Given the description of an element on the screen output the (x, y) to click on. 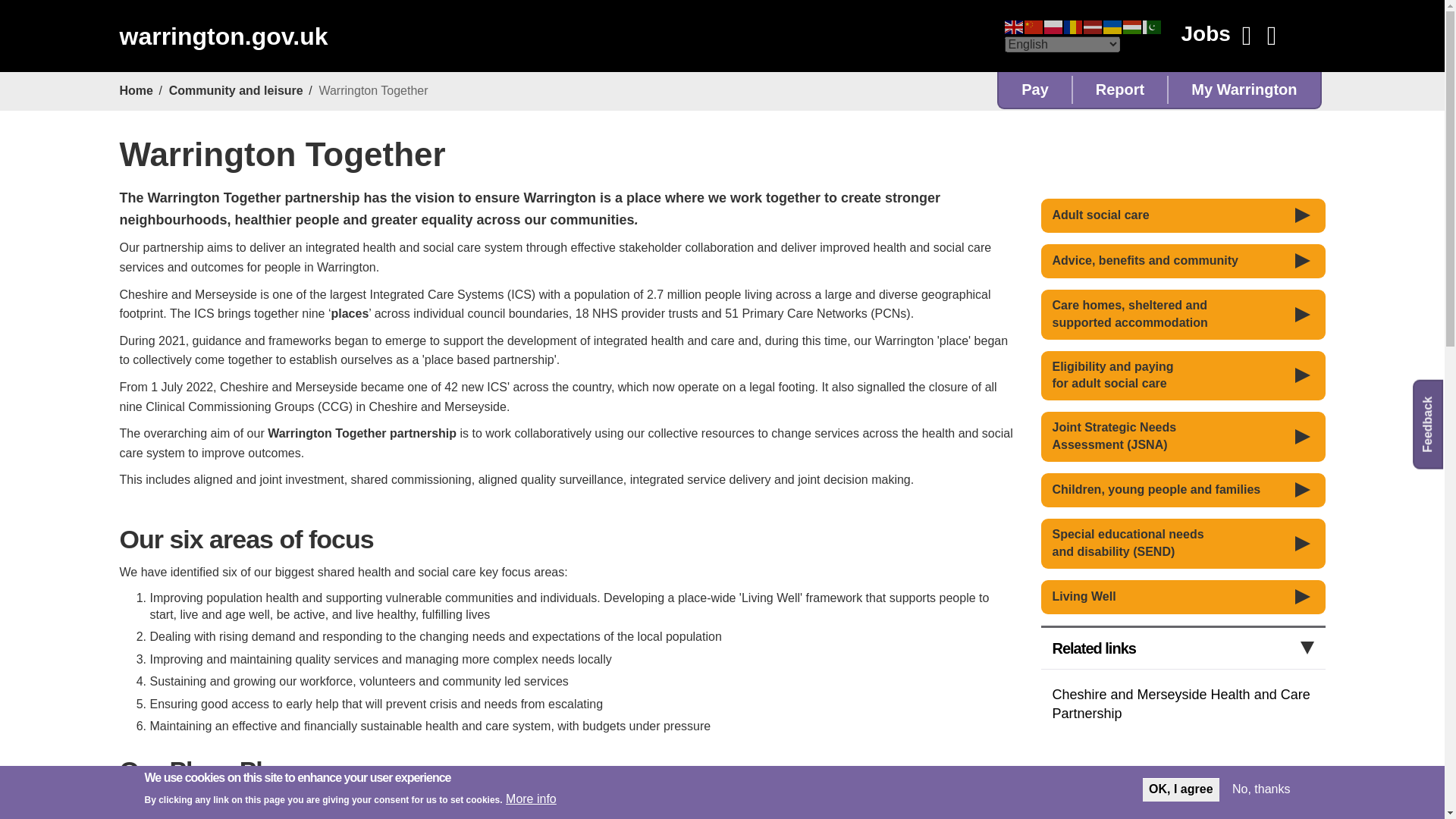
Report (1120, 89)
Polski (1052, 25)
English (1013, 25)
Warrington Together Place Plan 2023.pdf (587, 809)
Home (223, 36)
Magyar (1131, 25)
Pay (1034, 89)
warrington.gov.uk (223, 36)
Jobs (1203, 33)
